Given the description of an element on the screen output the (x, y) to click on. 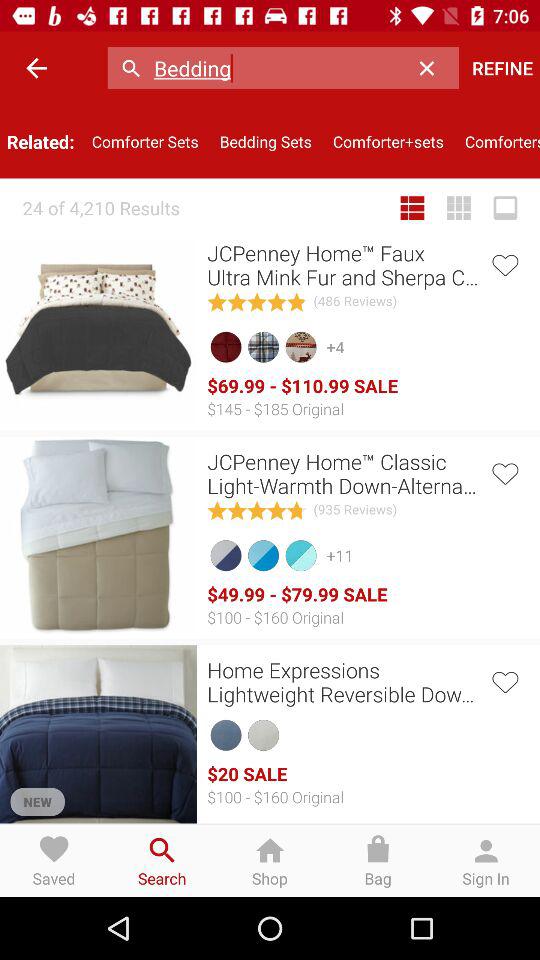
open item next to the comforter+sets icon (265, 141)
